Given the description of an element on the screen output the (x, y) to click on. 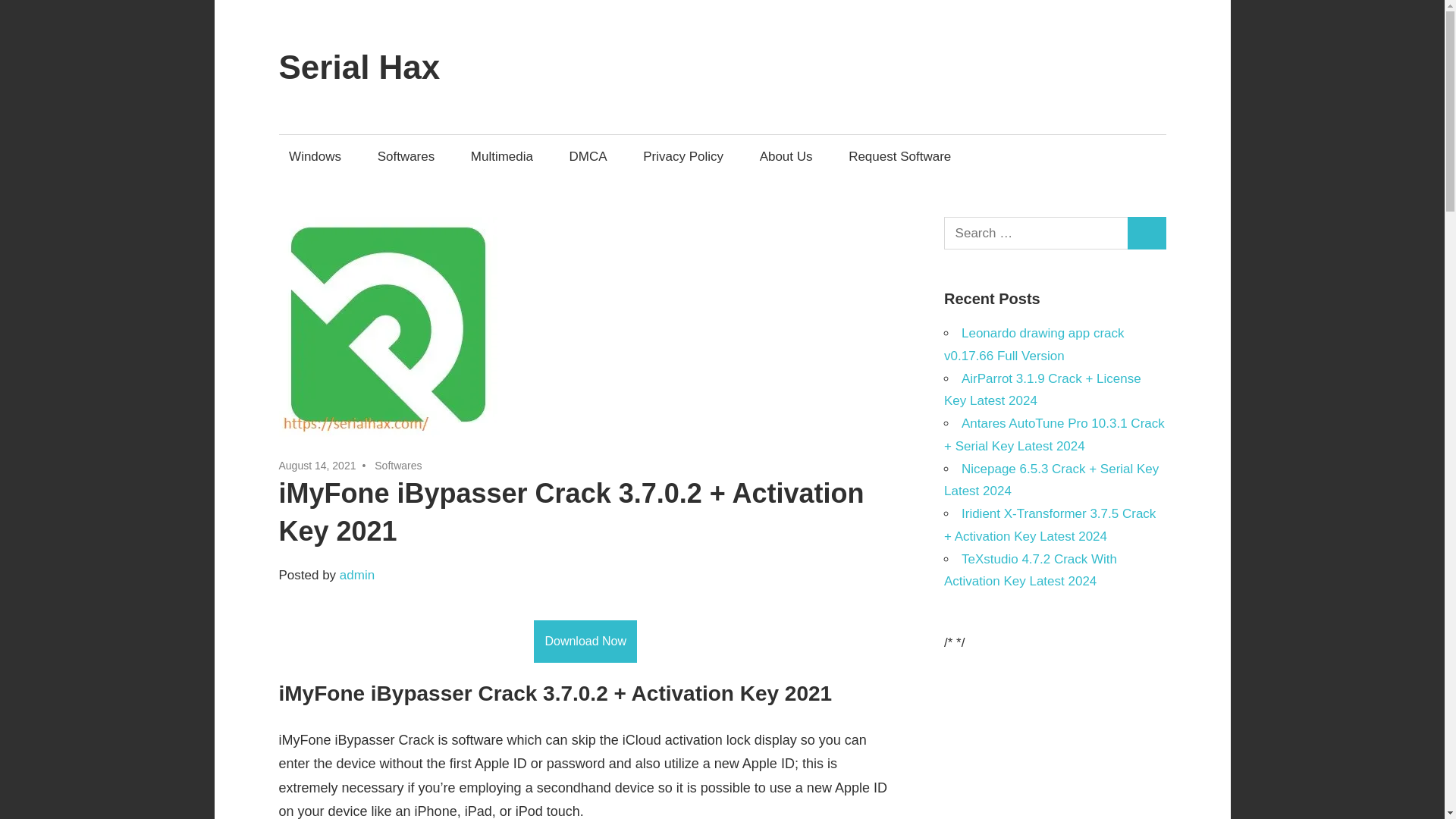
Softwares (398, 465)
Softwares (405, 156)
Request Software (899, 156)
Search (1146, 233)
Multimedia (501, 156)
About Us (785, 156)
Download Now (585, 640)
TeXstudio 4.7.2 Crack With Activation Key Latest 2024 (1029, 570)
Windows (315, 156)
admin (356, 575)
DMCA (588, 156)
Privacy Policy (683, 156)
Leonardo drawing app crack v0.17.66 Full Version (1033, 344)
Download Now (585, 640)
6:35 pm (317, 465)
